Given the description of an element on the screen output the (x, y) to click on. 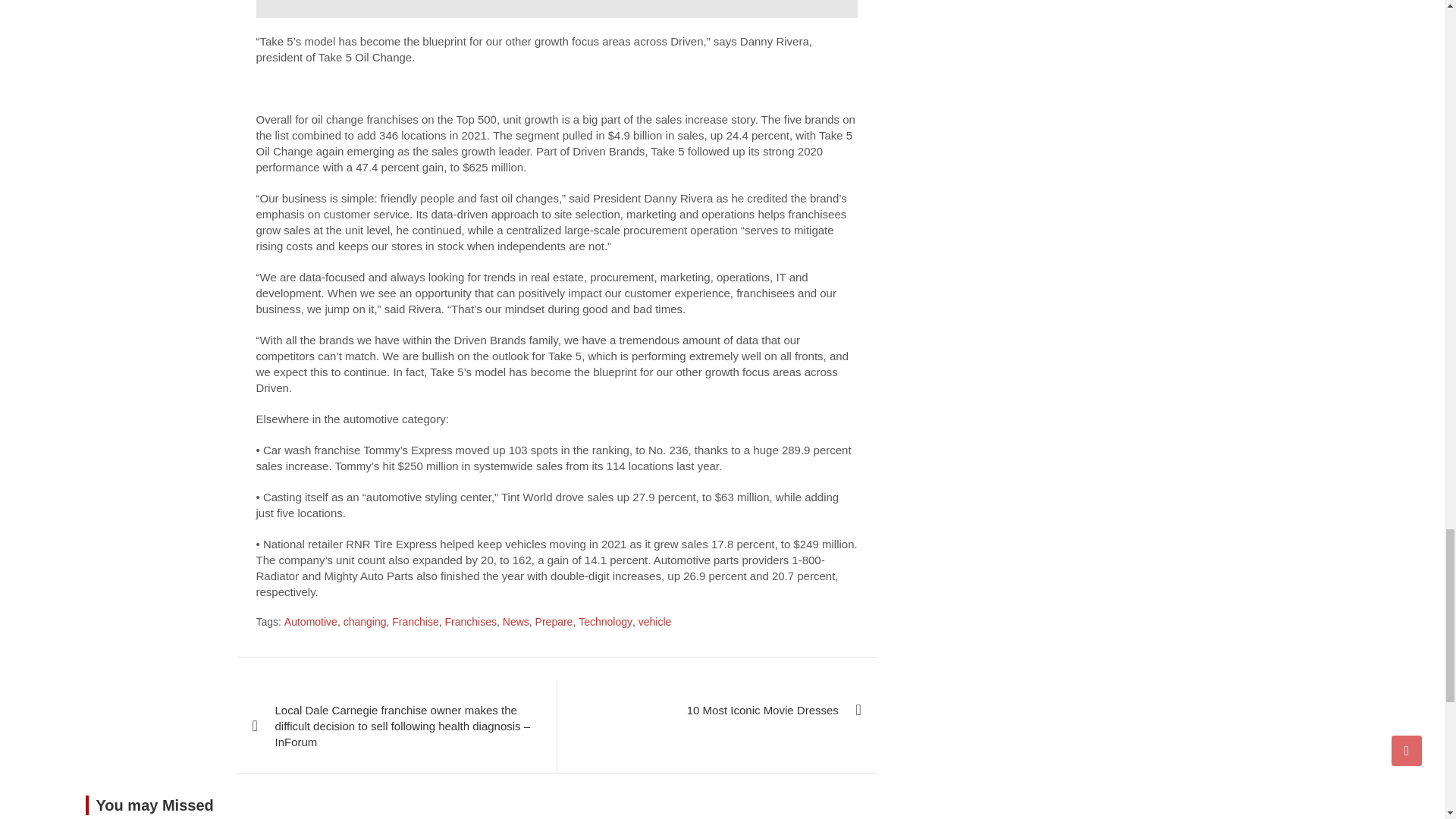
vehicle (655, 622)
Franchises (470, 622)
Automotive (310, 622)
Technology (604, 622)
Prepare (554, 622)
Franchise (414, 622)
News (515, 622)
changing (365, 622)
10 Most Iconic Movie Dresses (716, 710)
